Given the description of an element on the screen output the (x, y) to click on. 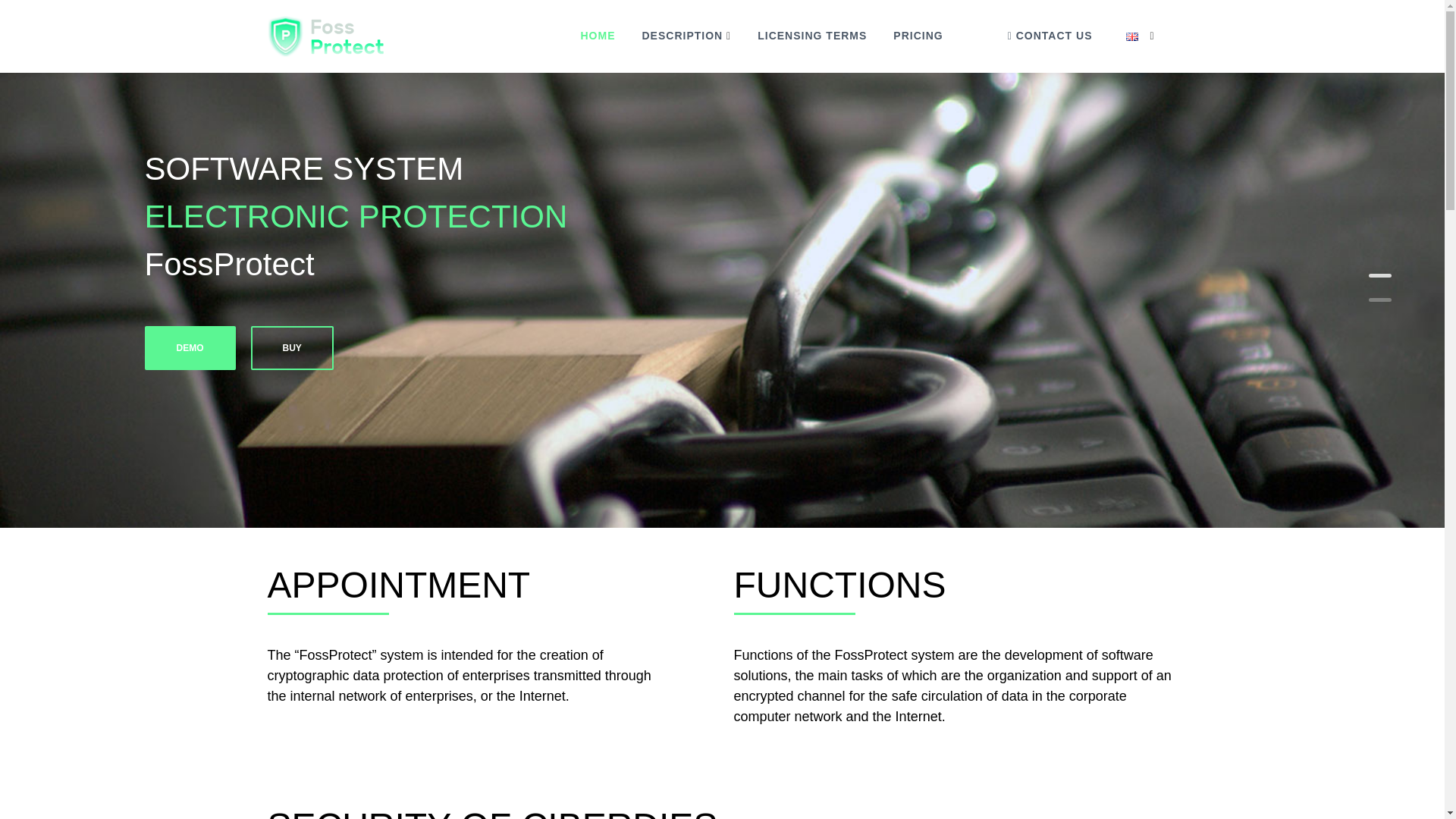
LICENSING TERMS (811, 35)
HOME (596, 35)
DESCRIPTION (682, 35)
DEMO (189, 347)
BUY (291, 347)
CONTACT US (1050, 35)
English (1131, 35)
PRICING (917, 35)
